Given the description of an element on the screen output the (x, y) to click on. 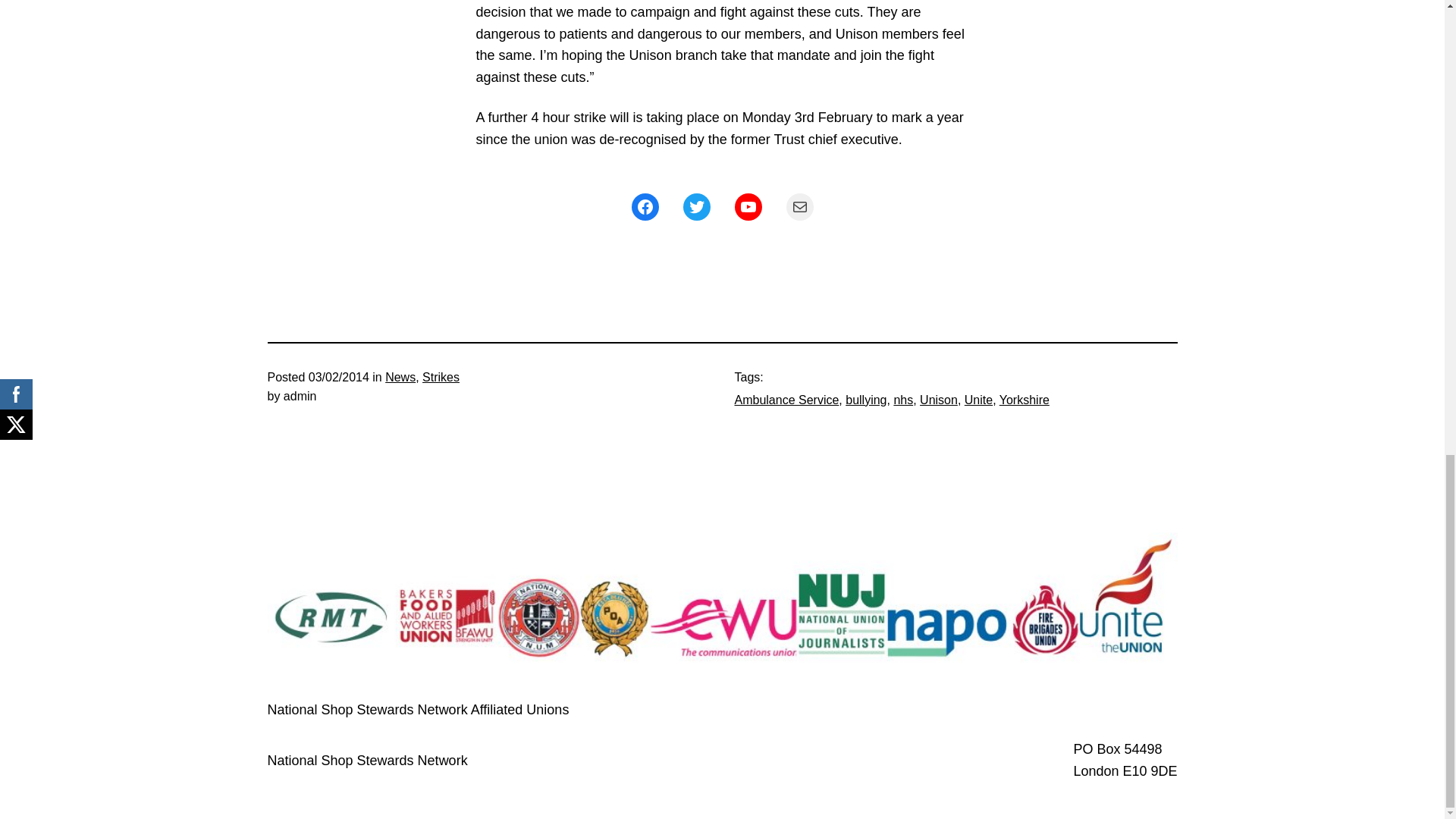
National Shop Stewards Network (366, 760)
bullying (865, 399)
nhs (902, 399)
Strikes (441, 377)
Ambulance Service (785, 399)
Twitter (696, 206)
News (399, 377)
Unite (977, 399)
Mail (799, 206)
Yorkshire (1023, 399)
